Given the description of an element on the screen output the (x, y) to click on. 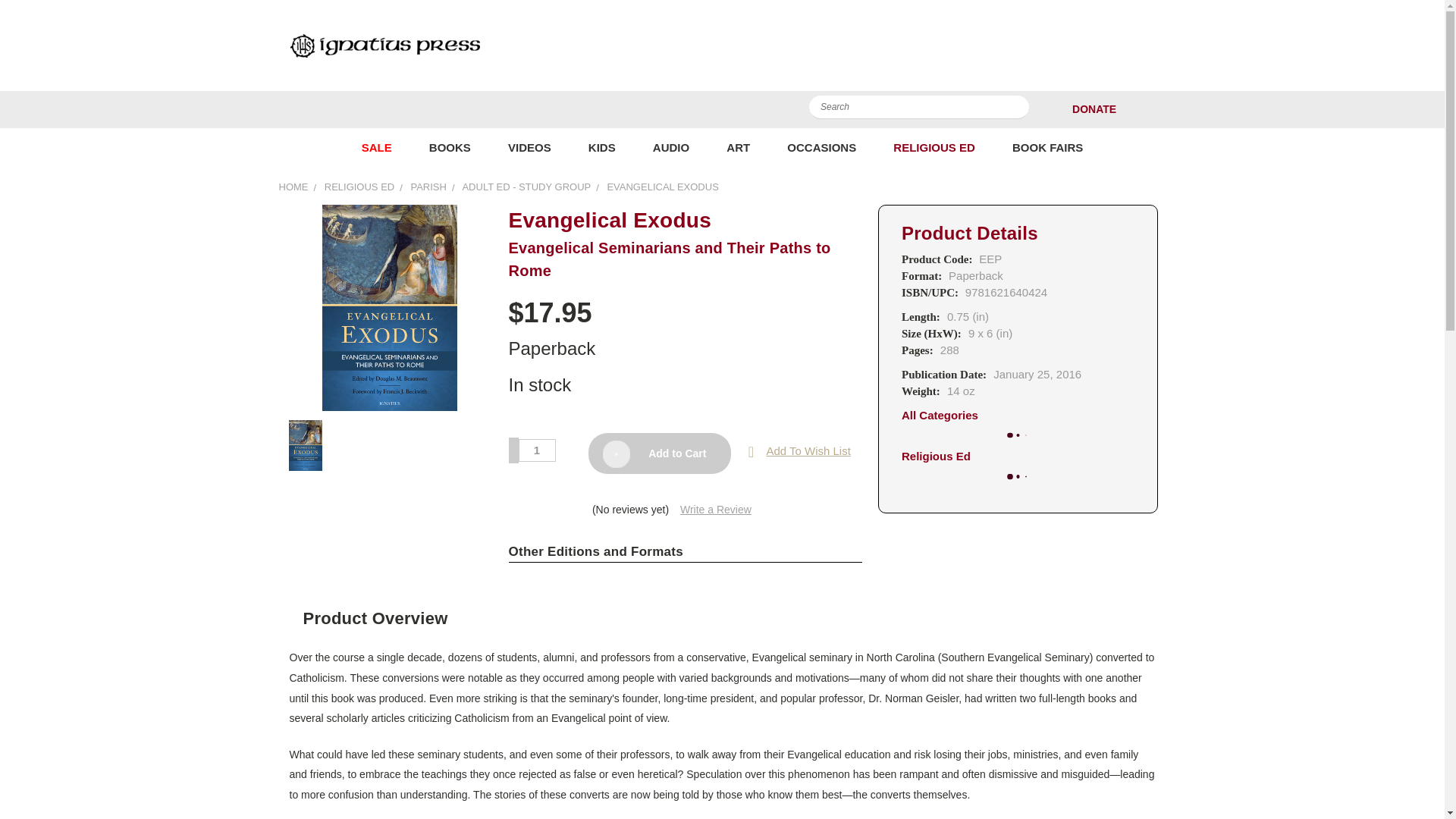
User Toolbox (1135, 109)
Add to Cart (659, 453)
1 (537, 449)
Submit Search (1017, 109)
Evangelical Exodus (389, 307)
Cart (1161, 109)
Ignatius Press (384, 44)
